Given the description of an element on the screen output the (x, y) to click on. 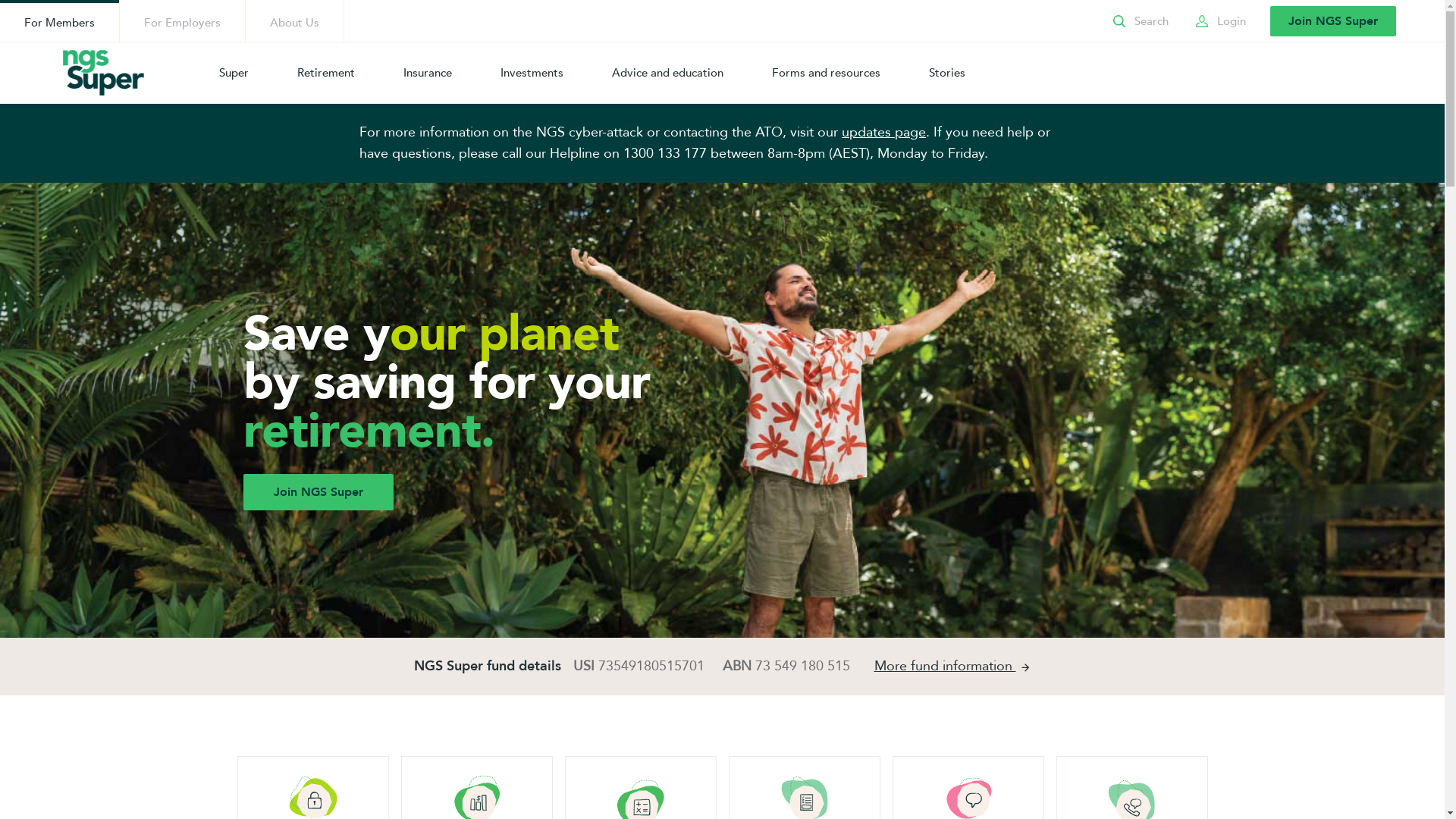
Forms and resources Element type: text (825, 72)
More fund information Element type: text (951, 666)
Search Element type: text (1139, 21)
About Us Element type: text (294, 20)
Retirement Element type: text (326, 72)
For Employers Element type: text (181, 20)
Stories Element type: text (946, 72)
Advice and education Element type: text (667, 72)
Join NGS Super Element type: text (317, 491)
For Members Element type: text (59, 20)
Join NGS Super Element type: text (1333, 21)
Login Element type: text (1218, 21)
Super Element type: text (233, 72)
Insurance Element type: text (427, 72)
updates page Element type: text (883, 131)
Investments Element type: text (531, 72)
